Given the description of an element on the screen output the (x, y) to click on. 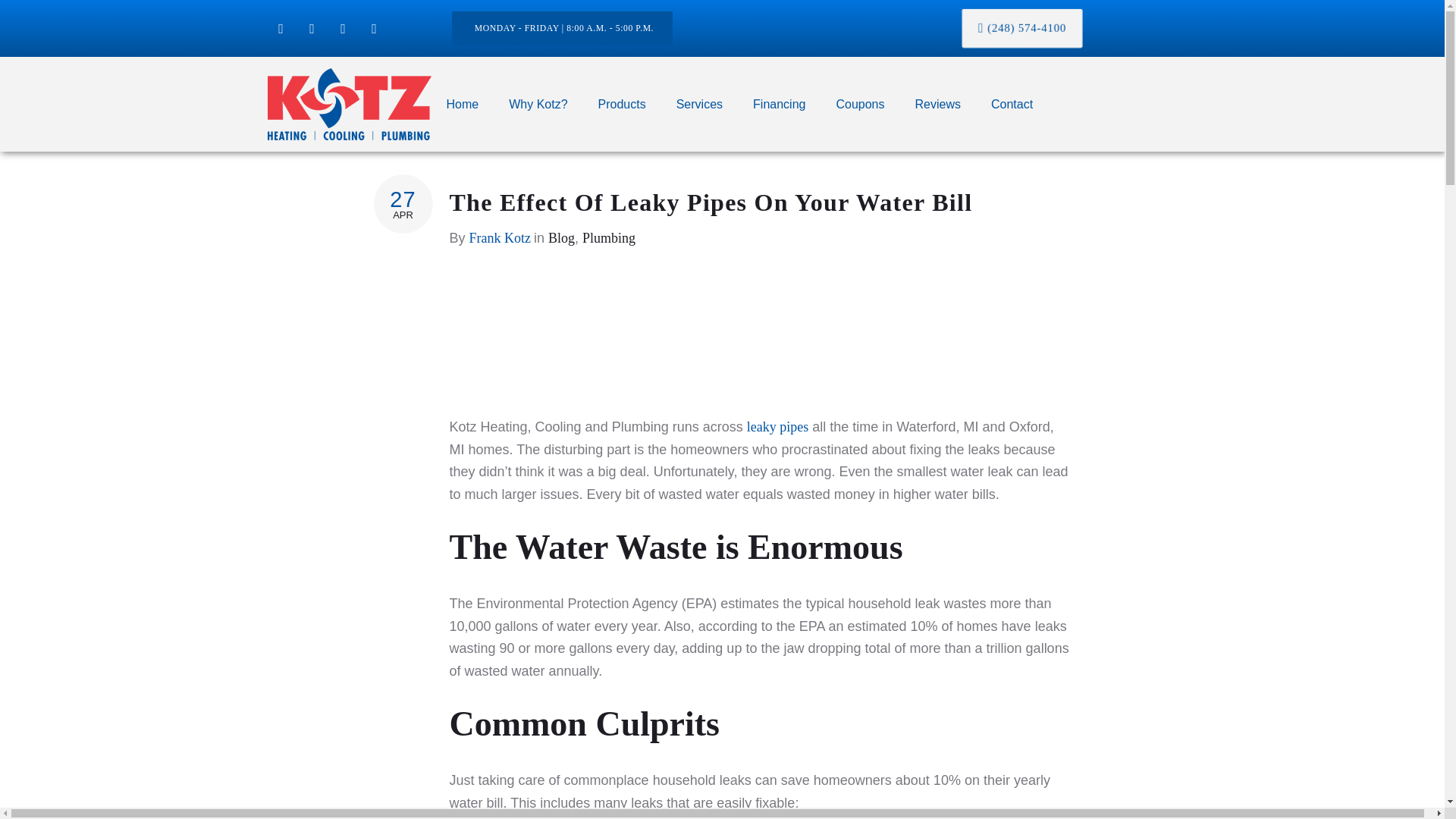
Financing (779, 103)
Products (622, 103)
Why Kotz? (537, 103)
Services (699, 103)
Reviews (937, 103)
Coupons (860, 103)
Home (461, 103)
Contact (1011, 103)
